Given the description of an element on the screen output the (x, y) to click on. 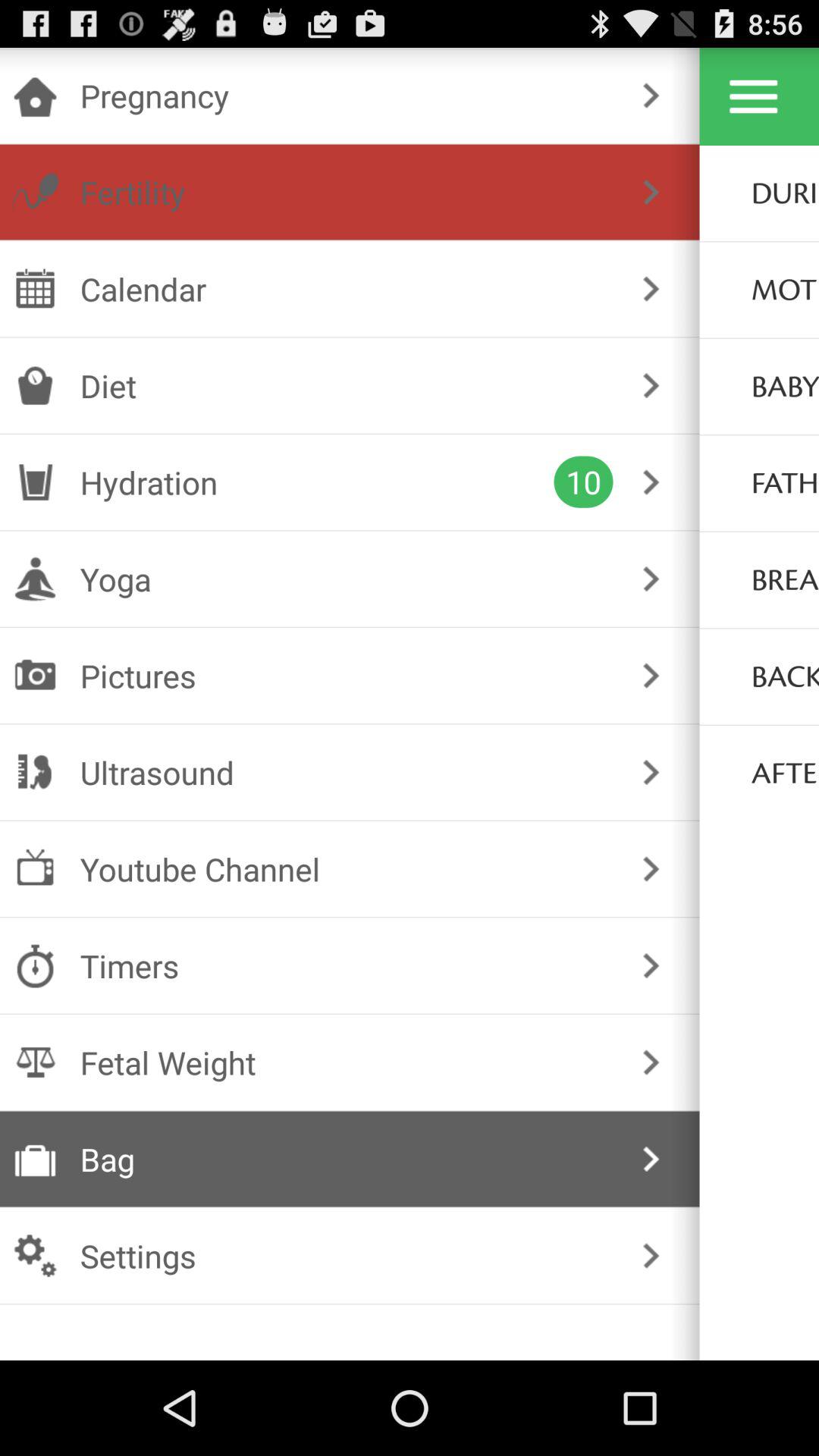
choose calendar (346, 288)
